Given the description of an element on the screen output the (x, y) to click on. 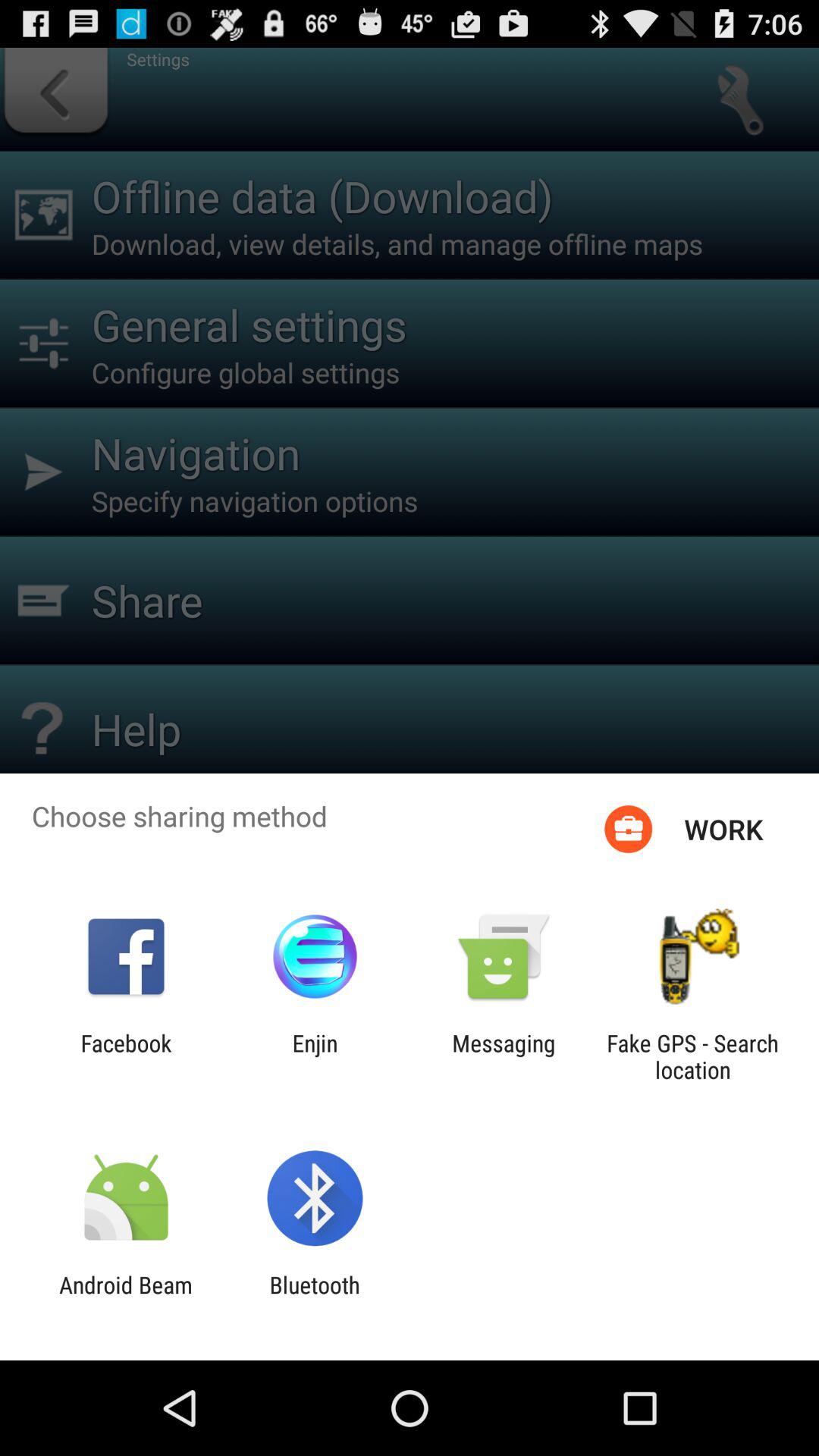
launch the app next to the fake gps search icon (503, 1056)
